Given the description of an element on the screen output the (x, y) to click on. 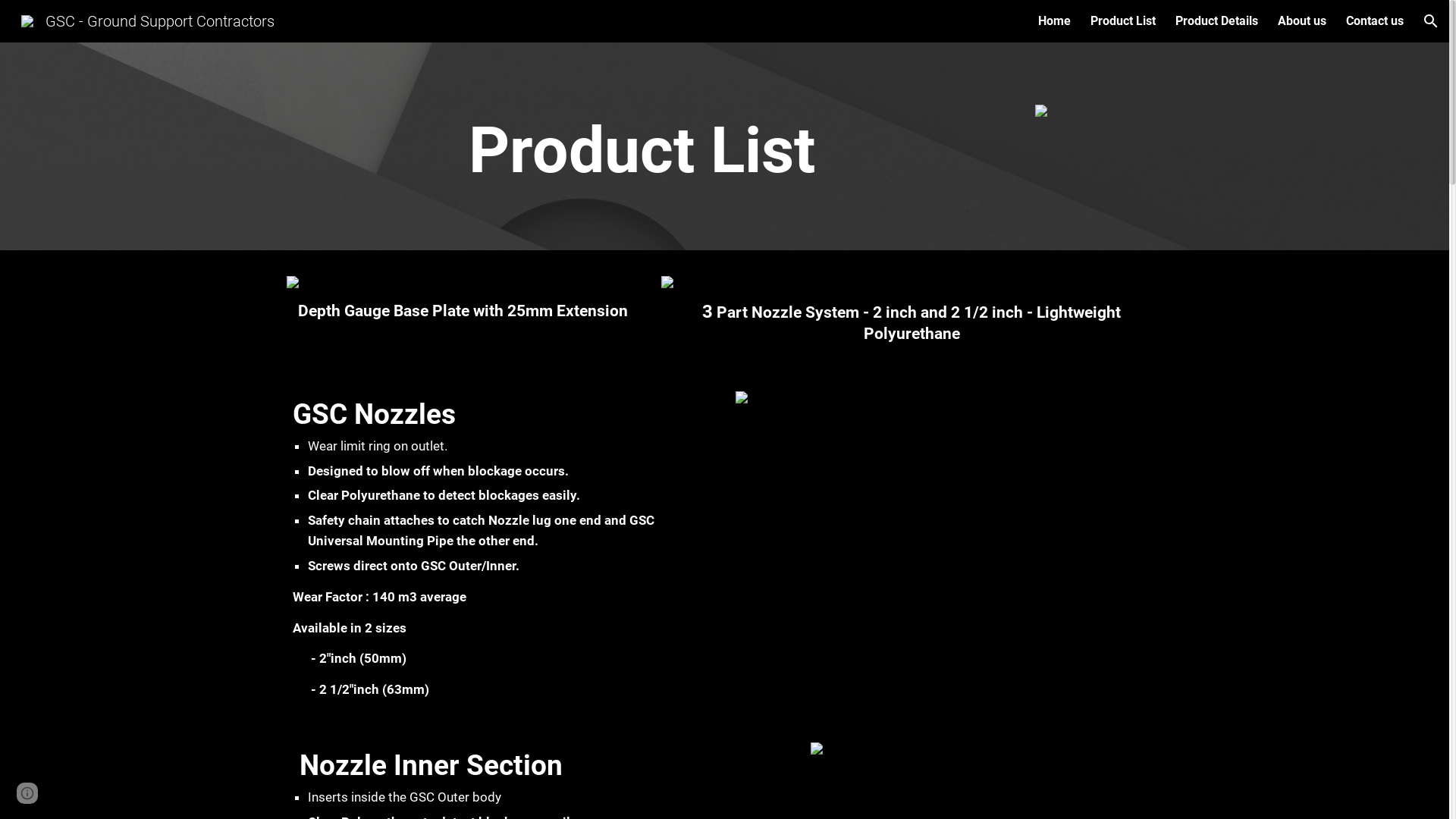
Contact us Element type: text (1374, 20)
GSC - Ground Support Contractors Element type: text (147, 19)
Product Details Element type: text (1216, 20)
Product List Element type: text (1122, 20)
Home Element type: text (1054, 20)
About us Element type: text (1301, 20)
